Given the description of an element on the screen output the (x, y) to click on. 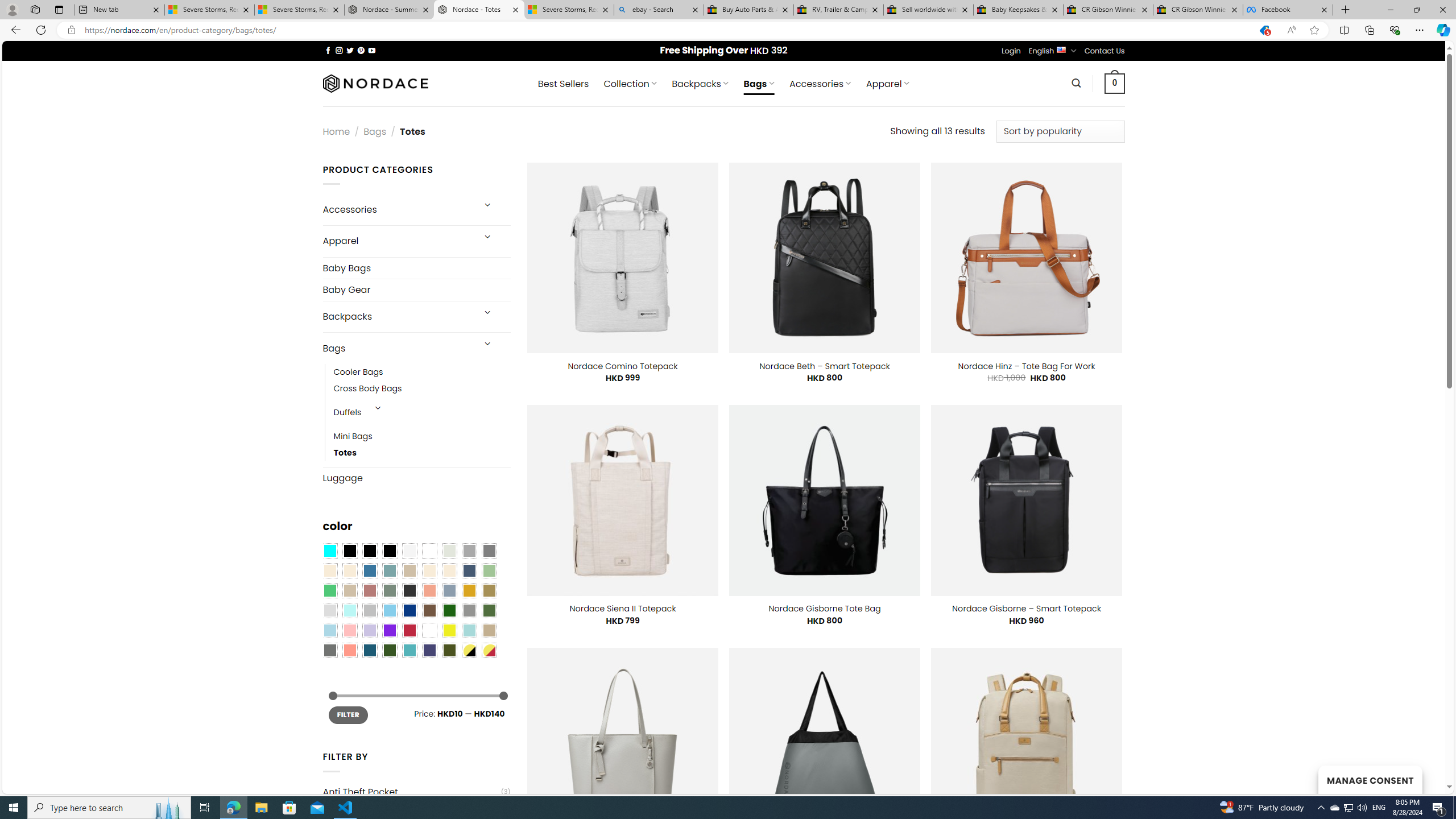
Totes (422, 452)
Teal (408, 649)
 Best Sellers (563, 83)
Brownie (408, 570)
Dark Gray (468, 550)
Charcoal (408, 590)
Coral (429, 590)
Shop order (1060, 131)
ebay - Search (658, 9)
Baby Bags (416, 268)
Mini Bags (422, 436)
